Given the description of an element on the screen output the (x, y) to click on. 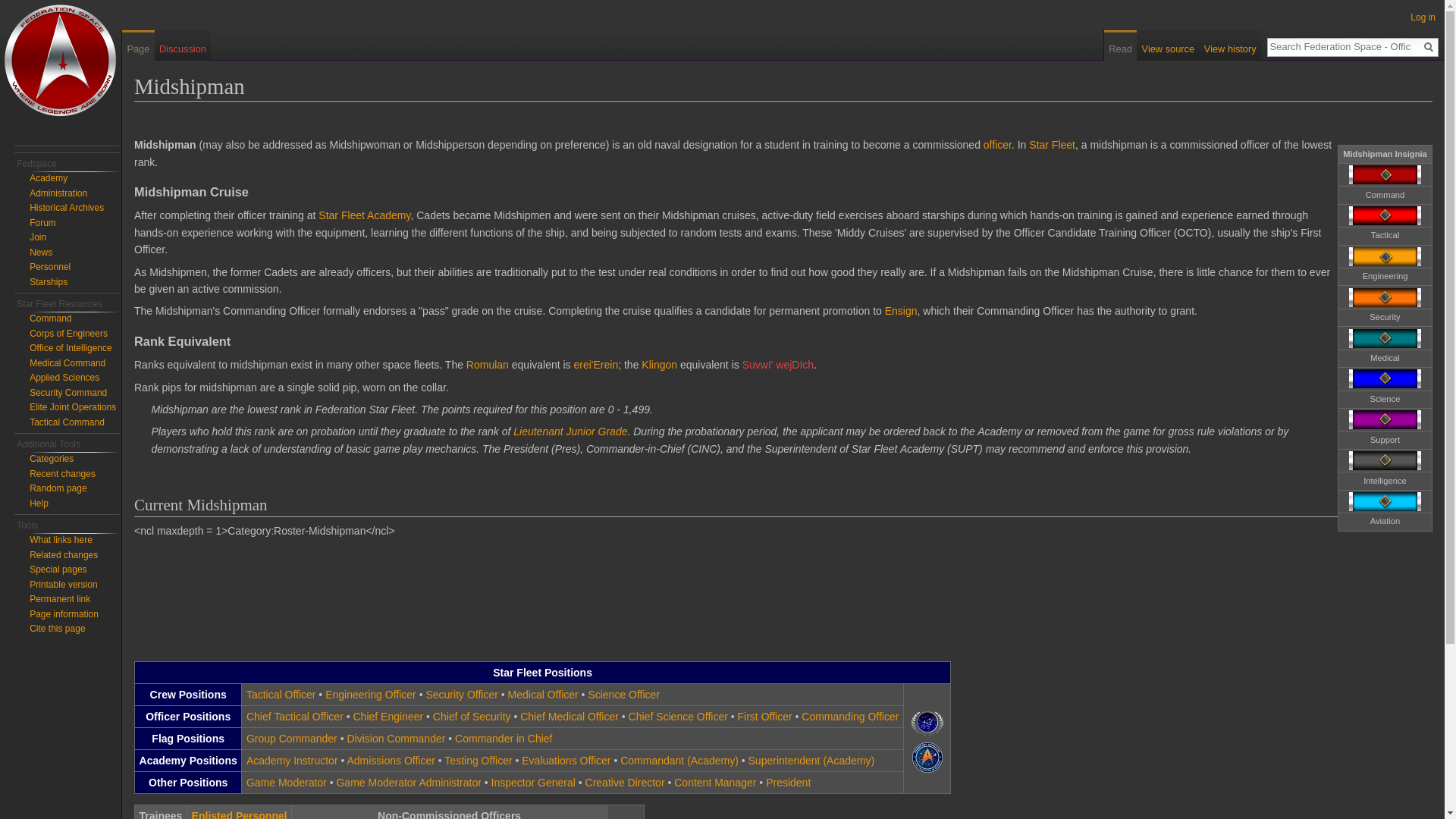
Academy Instructor (291, 760)
Go (1428, 46)
Commander in Chief (502, 738)
Officer (997, 144)
Engineering Officer (370, 694)
Ensign (901, 310)
Security Officer (461, 694)
Chief of Security (471, 716)
officer (997, 144)
